Given the description of an element on the screen output the (x, y) to click on. 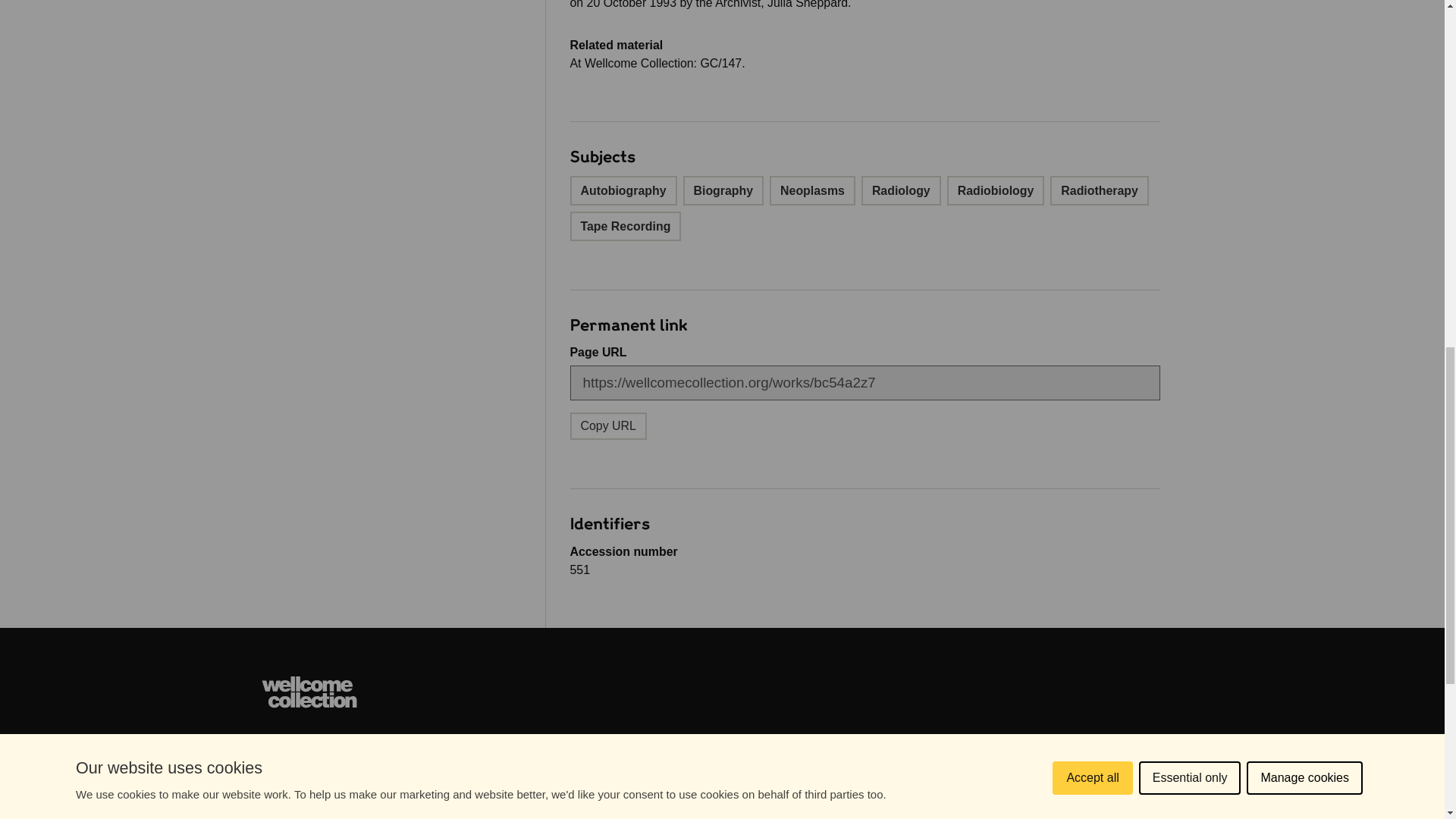
Radiotherapy (1098, 190)
Biography (722, 190)
Radiobiology (996, 190)
Wellcome Collection (309, 692)
Manage cookies (1304, 2)
Autobiography (623, 190)
Accept all (1092, 12)
Essential only (1189, 6)
Visit us (894, 756)
Radiology (900, 190)
Tape Recording (625, 225)
Stories (894, 809)
Neoplasms (813, 190)
Copy URL (308, 762)
